Given the description of an element on the screen output the (x, y) to click on. 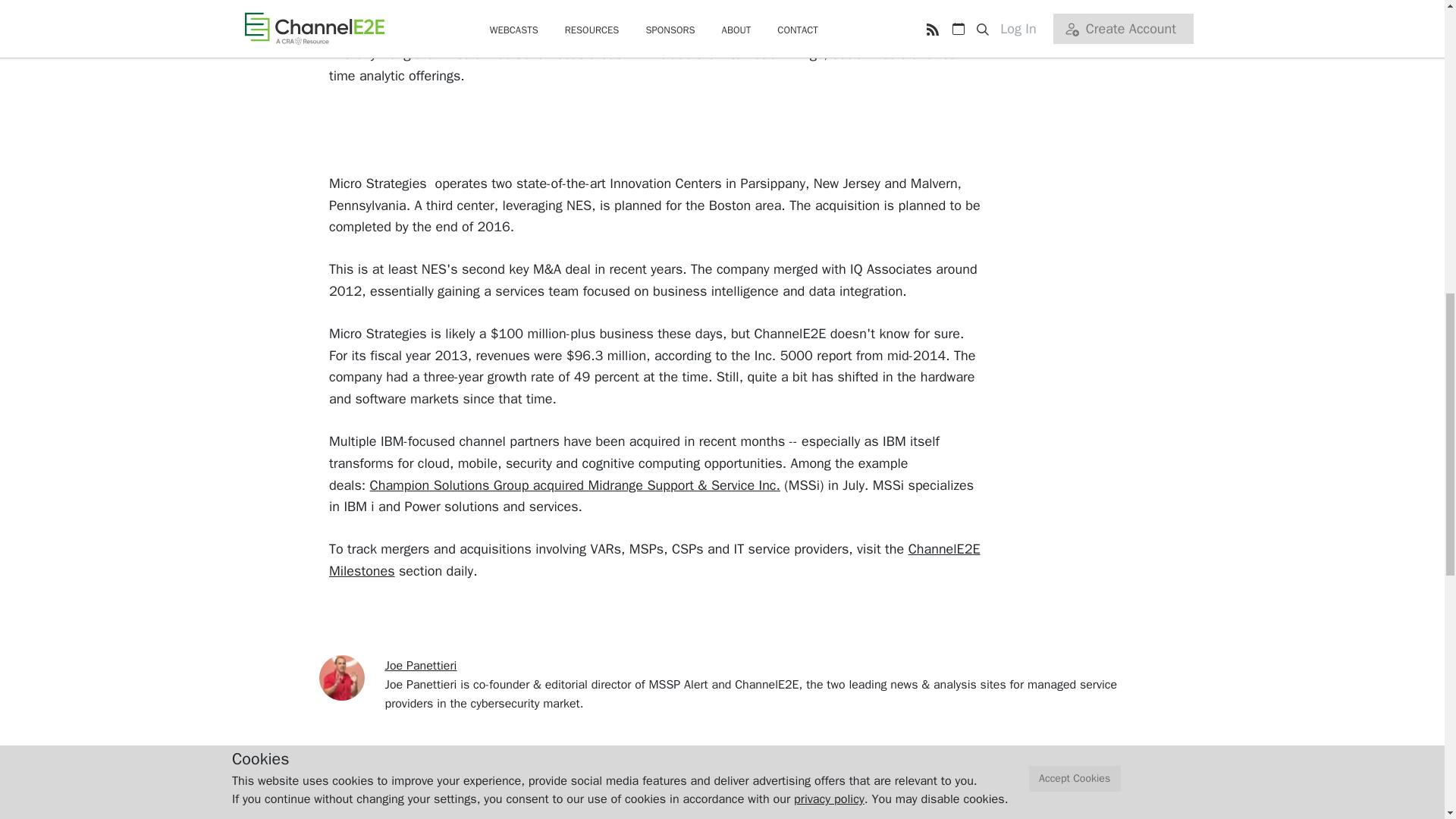
THREAT INTELLIGENCE (659, 814)
ChannelE2E Milestones (654, 559)
Joe Panettieri (421, 665)
